Given the description of an element on the screen output the (x, y) to click on. 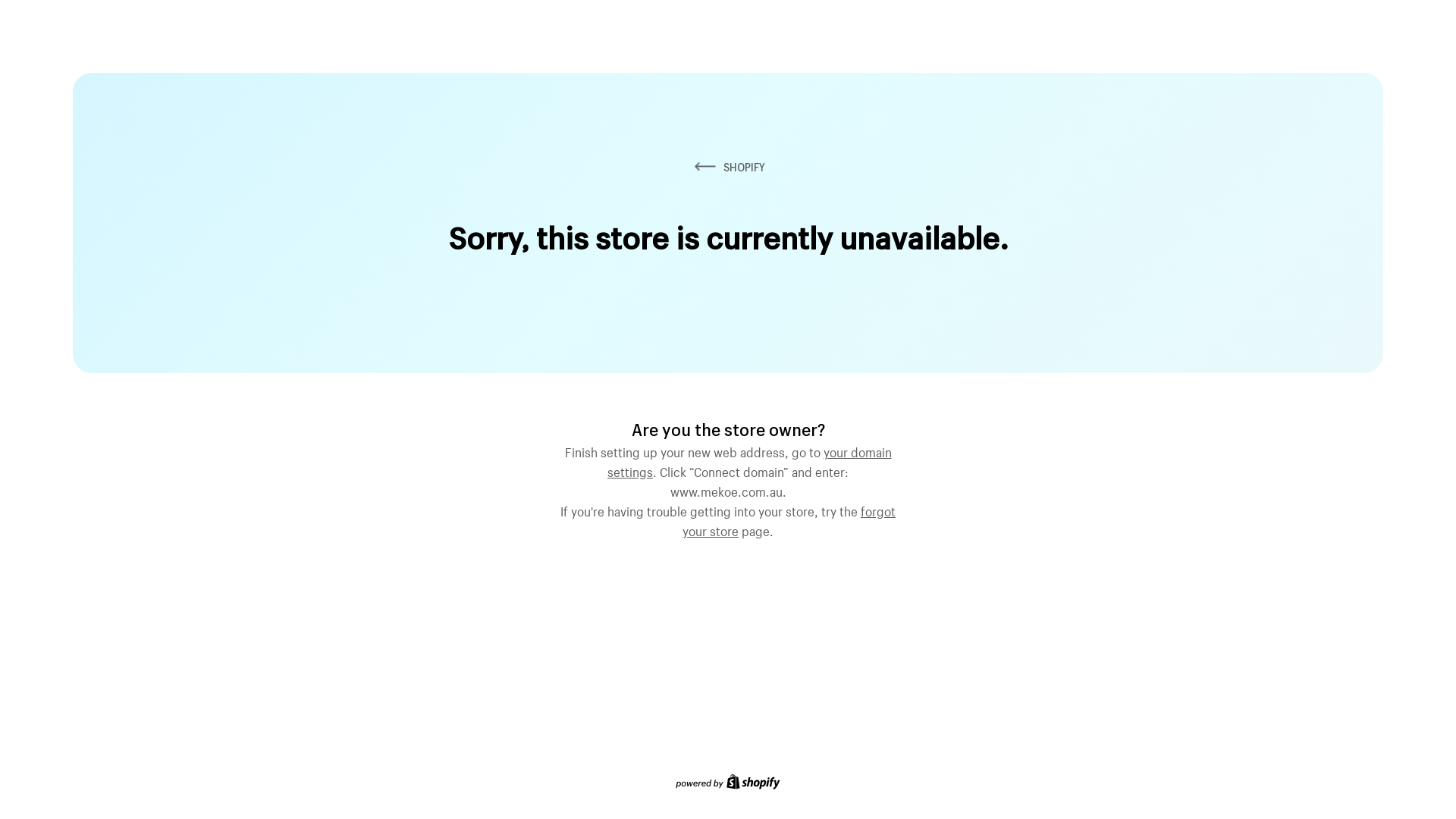
forgot your store Element type: text (788, 519)
your domain settings Element type: text (749, 460)
SHOPIFY Element type: text (727, 167)
